Given the description of an element on the screen output the (x, y) to click on. 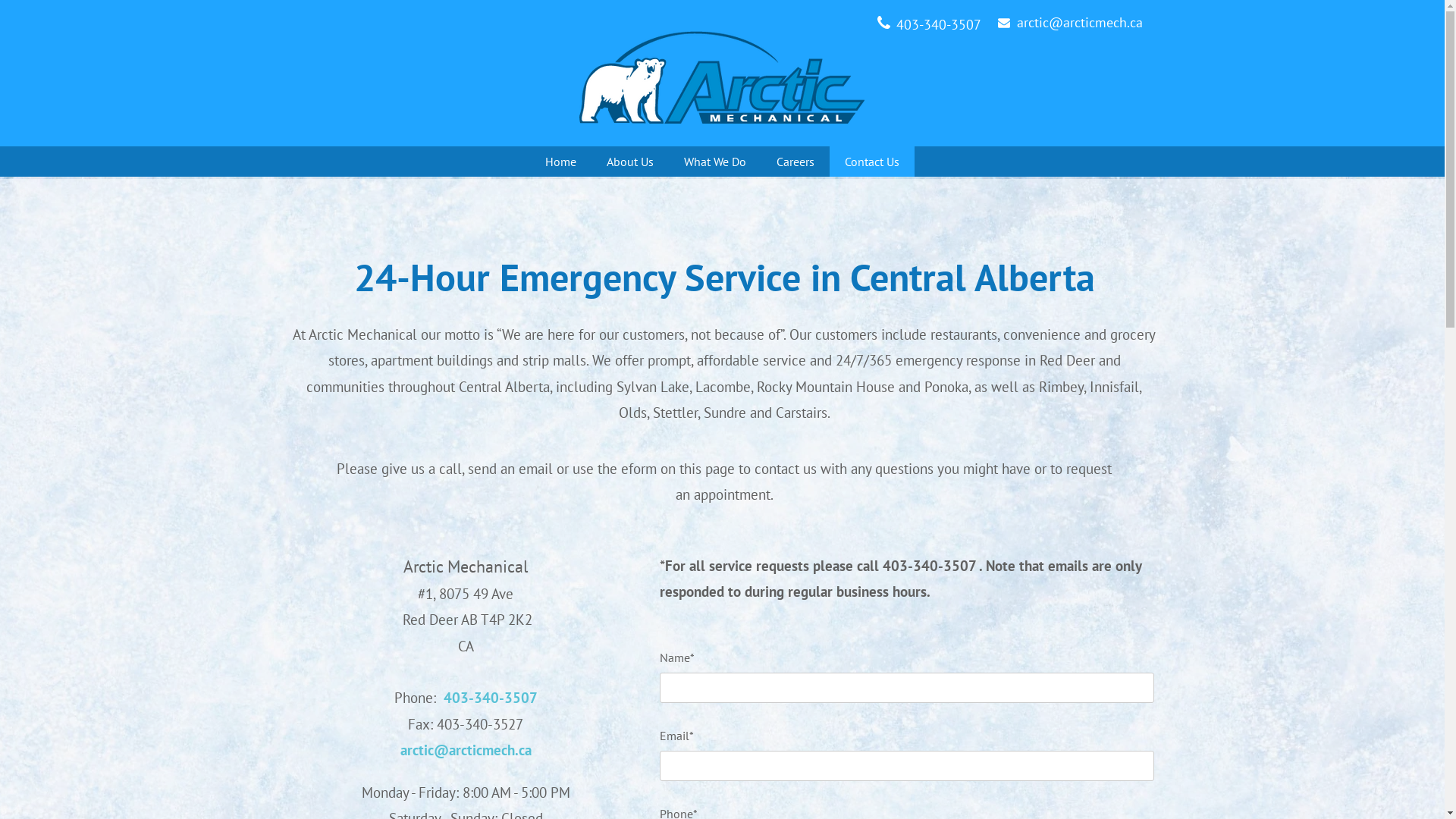
Home Element type: text (559, 161)
403-340-3507 Element type: text (489, 698)
403-340-3507 Element type: text (938, 26)
arctic@arcticmech.ca Element type: text (465, 750)
About Us Element type: text (629, 161)
Contact Us Element type: text (871, 161)
arctic@arcticmech.ca Element type: text (1079, 23)
Careers Element type: text (795, 161)
What We Do Element type: text (714, 161)
